Given the description of an element on the screen output the (x, y) to click on. 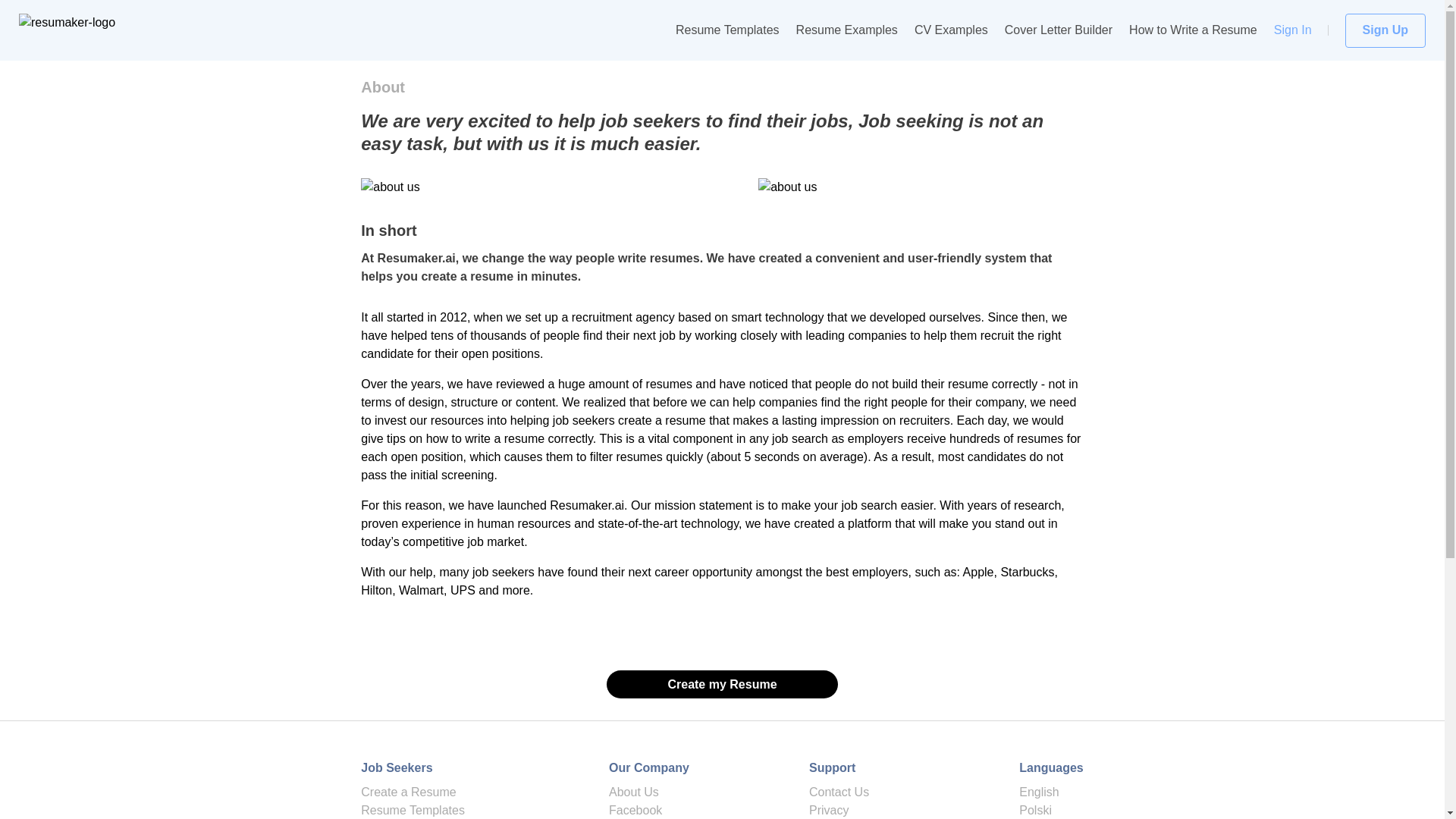
How to Write a Resume (1193, 30)
Privacy (828, 809)
Facebook (635, 809)
Contact Us (839, 791)
Create a Resume (408, 791)
Resume Templates (412, 809)
CV Examples (951, 30)
Resume Examples (847, 30)
Polski (1035, 809)
English (1038, 791)
